Given the description of an element on the screen output the (x, y) to click on. 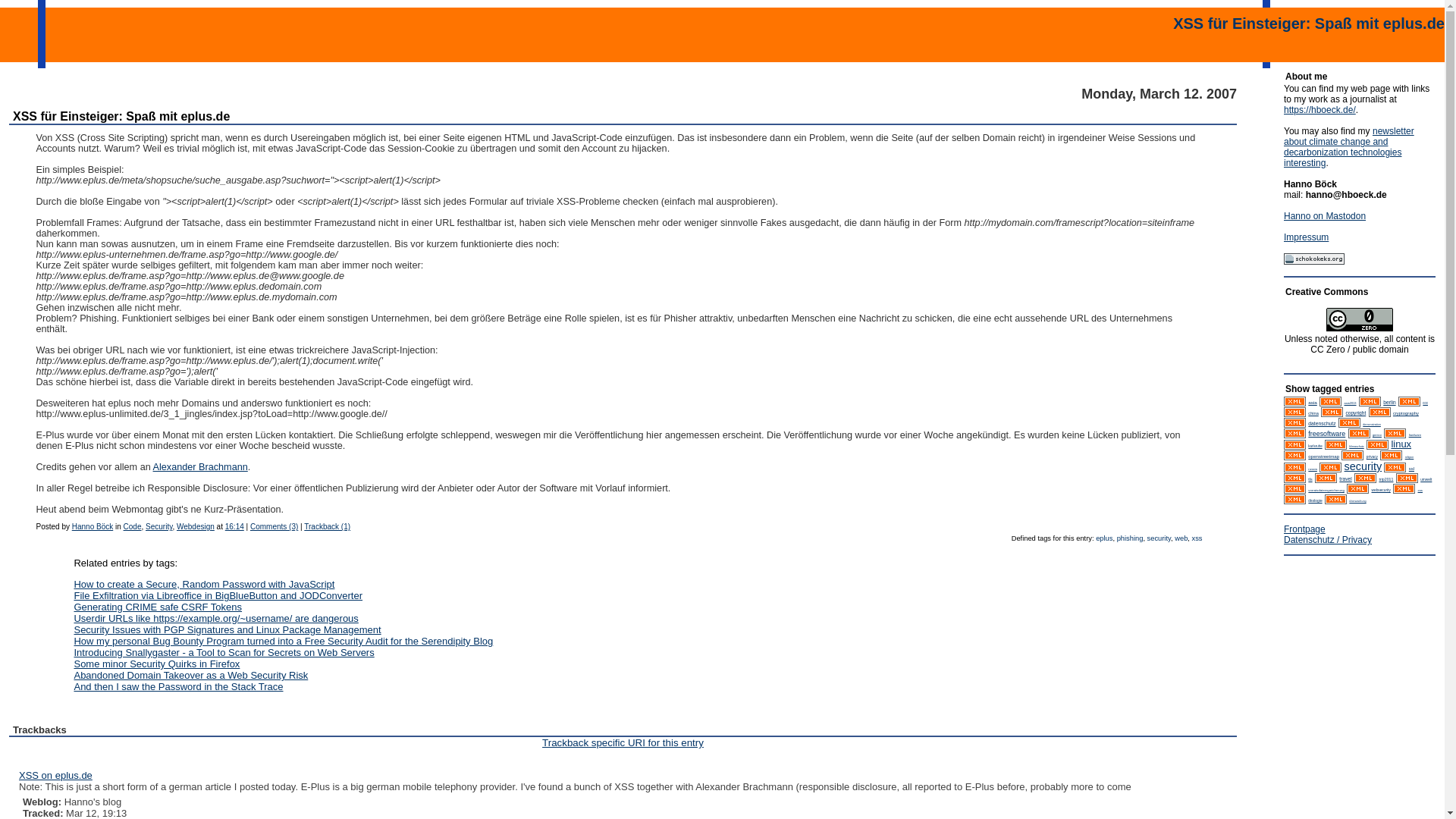
How to create a Secure, Random Password with JavaScript (204, 583)
Generating CRIME safe CSRF Tokens (157, 606)
Some minor Security Quirks in Firefox (157, 663)
Security (158, 526)
web (1181, 538)
xss (1197, 538)
And then I saw the Password in the Stack Trace (178, 686)
